Given the description of an element on the screen output the (x, y) to click on. 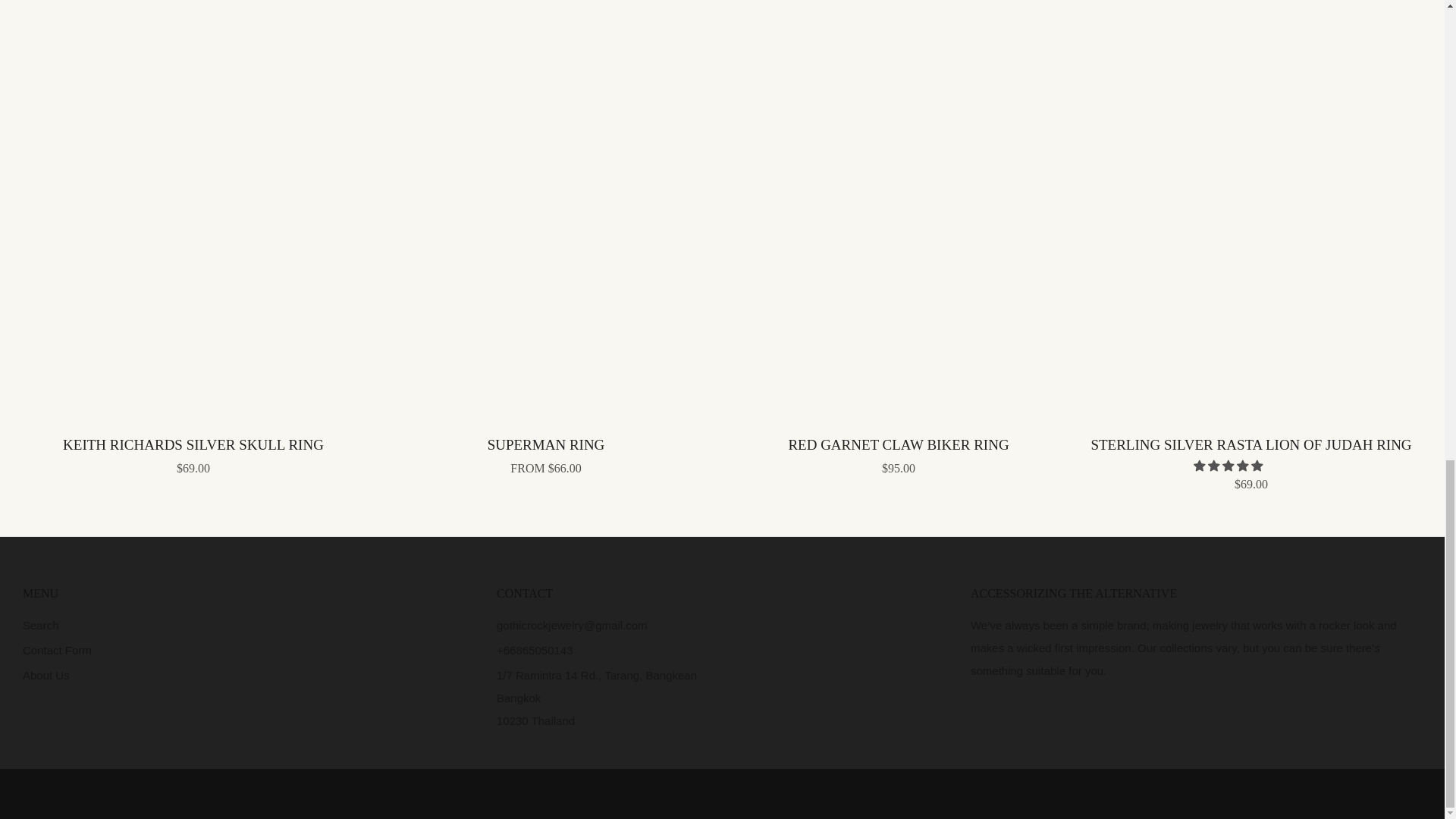
Sterling Silver Rasta Lion of Judah Ring (1251, 461)
Superman Ring (545, 453)
Keith Richards Silver Skull Ring (193, 453)
Red Garnet Claw Biker Ring (898, 453)
